Given the description of an element on the screen output the (x, y) to click on. 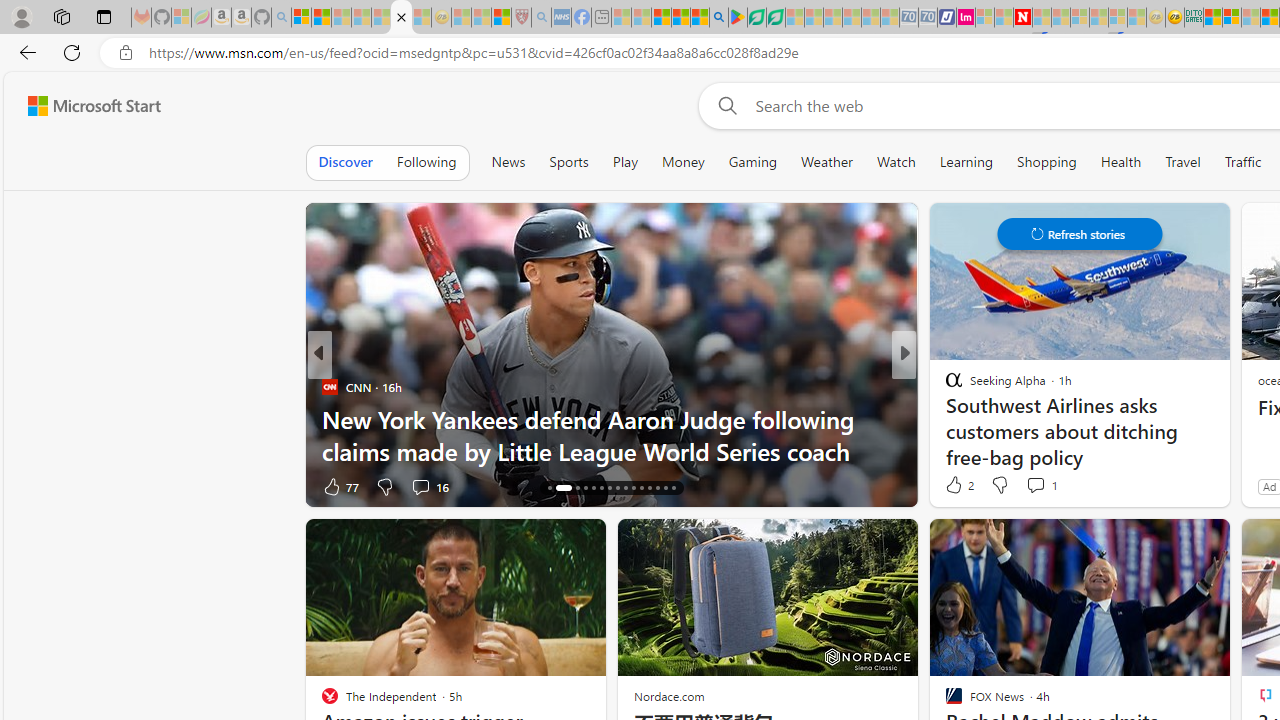
Bluey: Let's Play! - Apps on Google Play (737, 17)
119 Like (959, 486)
AutomationID: tab-26 (641, 487)
View comments 31 Comment (1042, 485)
AutomationID: tab-18 (571, 487)
AutomationID: tab-21 (600, 487)
The Conversation (944, 418)
View comments 9 Comment (1036, 485)
AutomationID: tab-22 (609, 487)
